Given the description of an element on the screen output the (x, y) to click on. 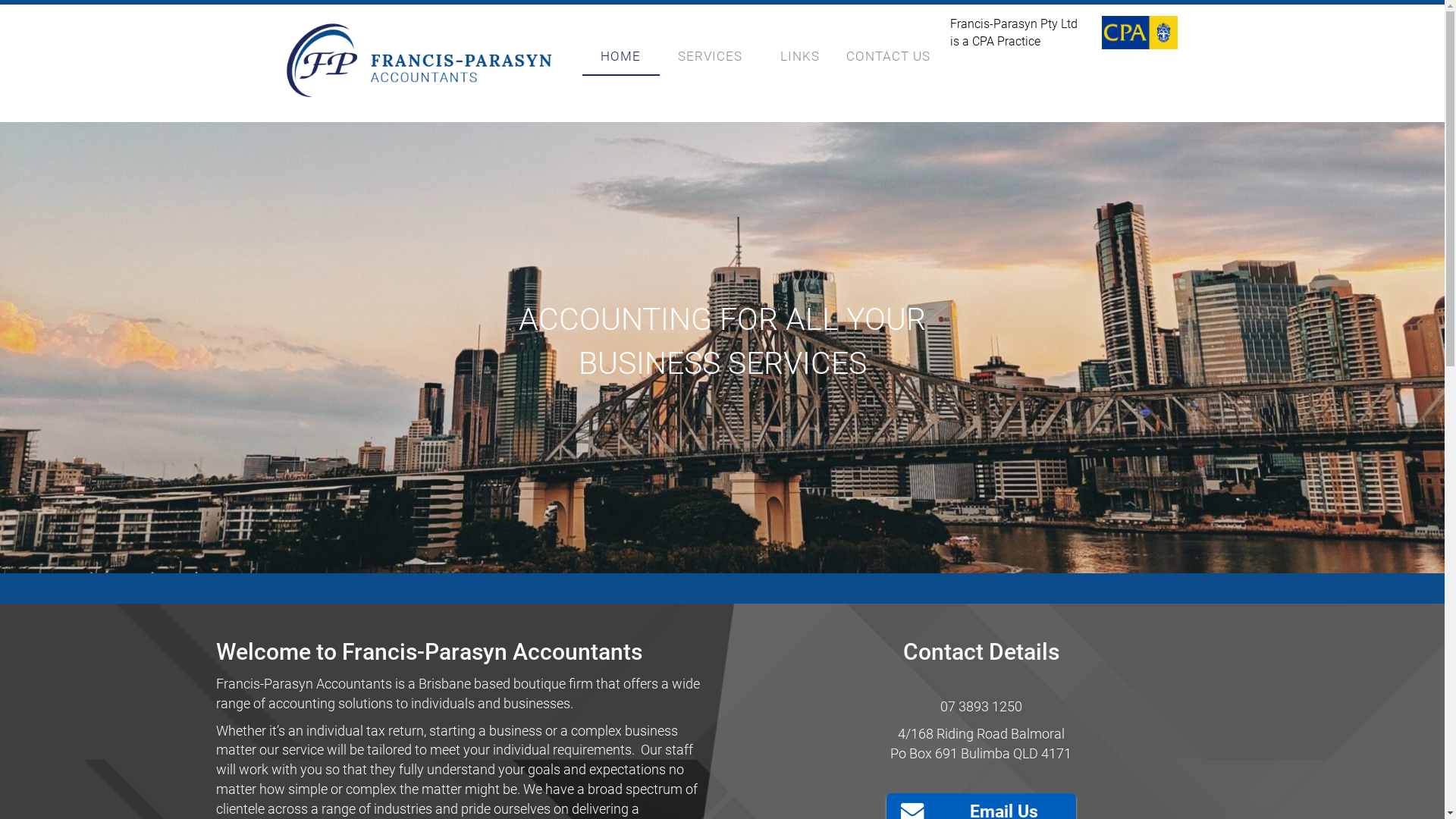
HOME Element type: text (620, 56)
LINKS Element type: text (799, 56)
07 3893 1250 Element type: text (981, 706)
SERVICES Element type: text (710, 56)
CONTACT US Element type: text (887, 56)
brisbane-bridge-view Element type: hover (722, 347)
